Given the description of an element on the screen output the (x, y) to click on. 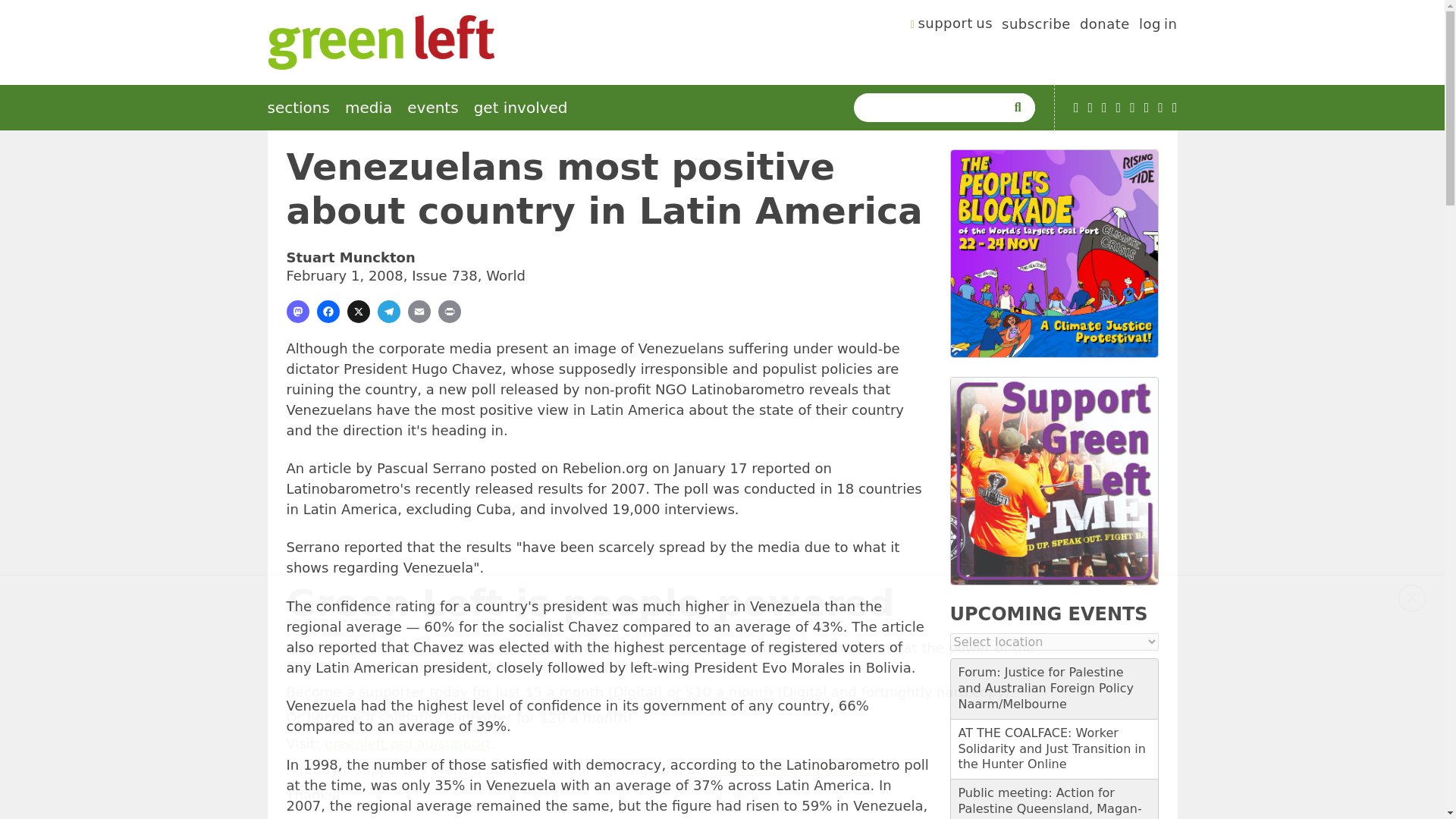
log in (1157, 26)
subscribe (1035, 26)
events (432, 107)
Share on Telegram (388, 311)
share via email (418, 311)
support us (951, 26)
Print (449, 311)
Enter the terms you wish to search for. (932, 107)
Share on X (358, 311)
donate (1104, 26)
